Given the description of an element on the screen output the (x, y) to click on. 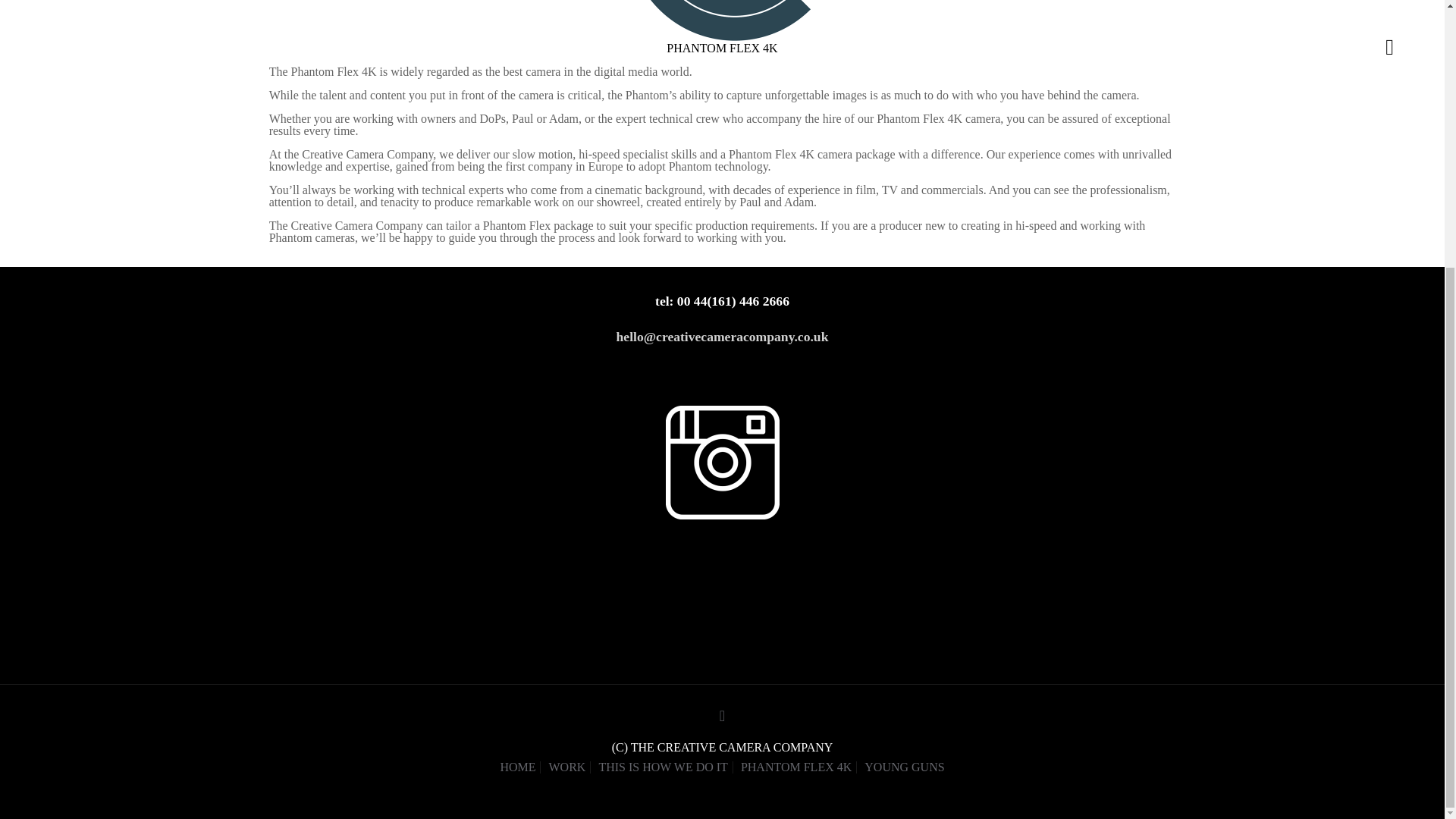
THIS IS HOW WE DO IT (663, 766)
PHANTOM FLEX 4K (796, 766)
INSTAGRAM (721, 462)
YOUNG GUNS (903, 766)
HOME (517, 766)
WORK (566, 766)
